Given the description of an element on the screen output the (x, y) to click on. 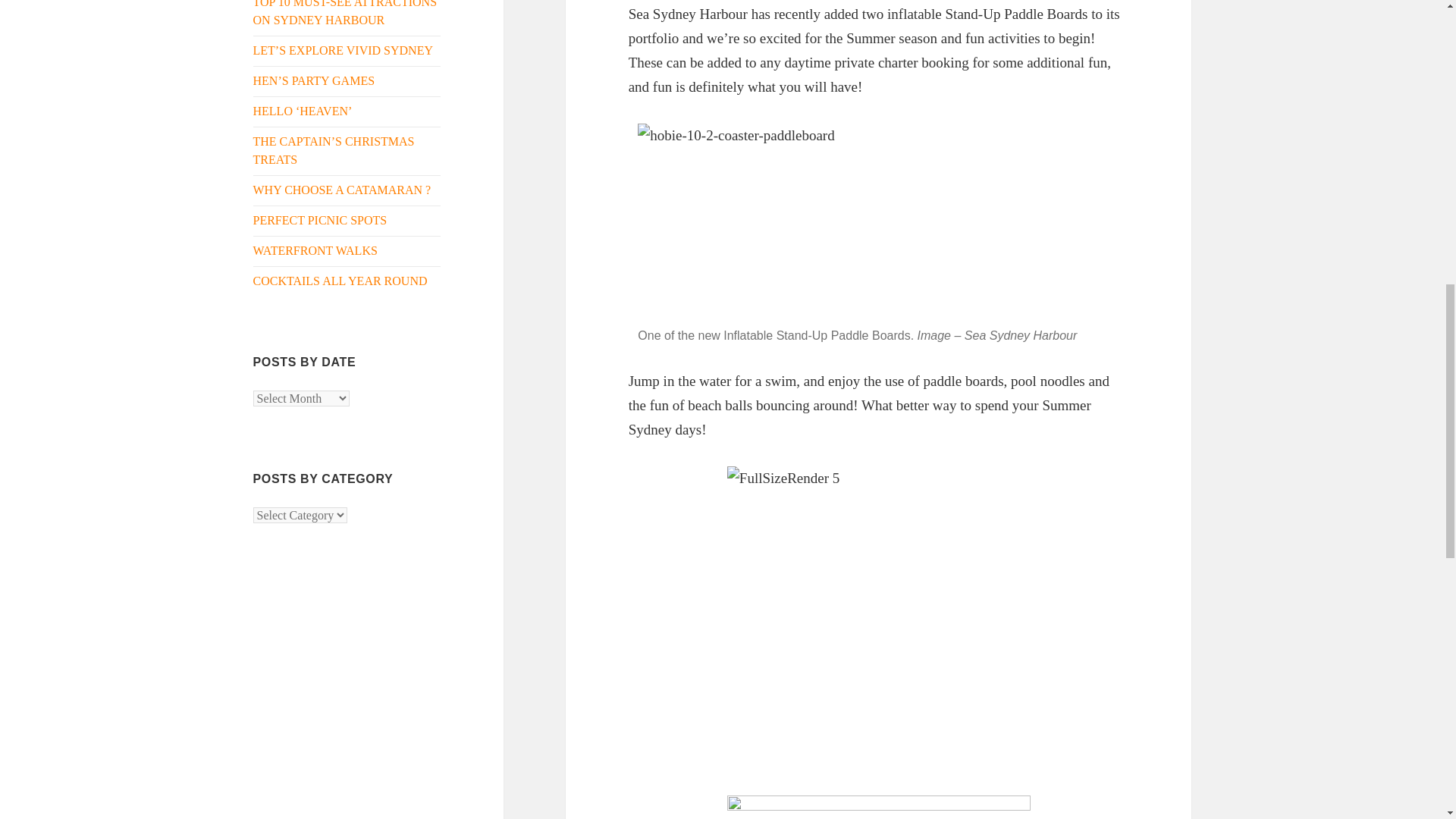
TOP 10 MUST-SEE ATTRACTIONS ON SYDNEY HARBOUR (345, 13)
COCKTAILS ALL YEAR ROUND (340, 280)
WATERFRONT WALKS (315, 250)
WHY CHOOSE A CATAMARAN ? (341, 189)
PERFECT PICNIC SPOTS (320, 219)
